Given the description of an element on the screen output the (x, y) to click on. 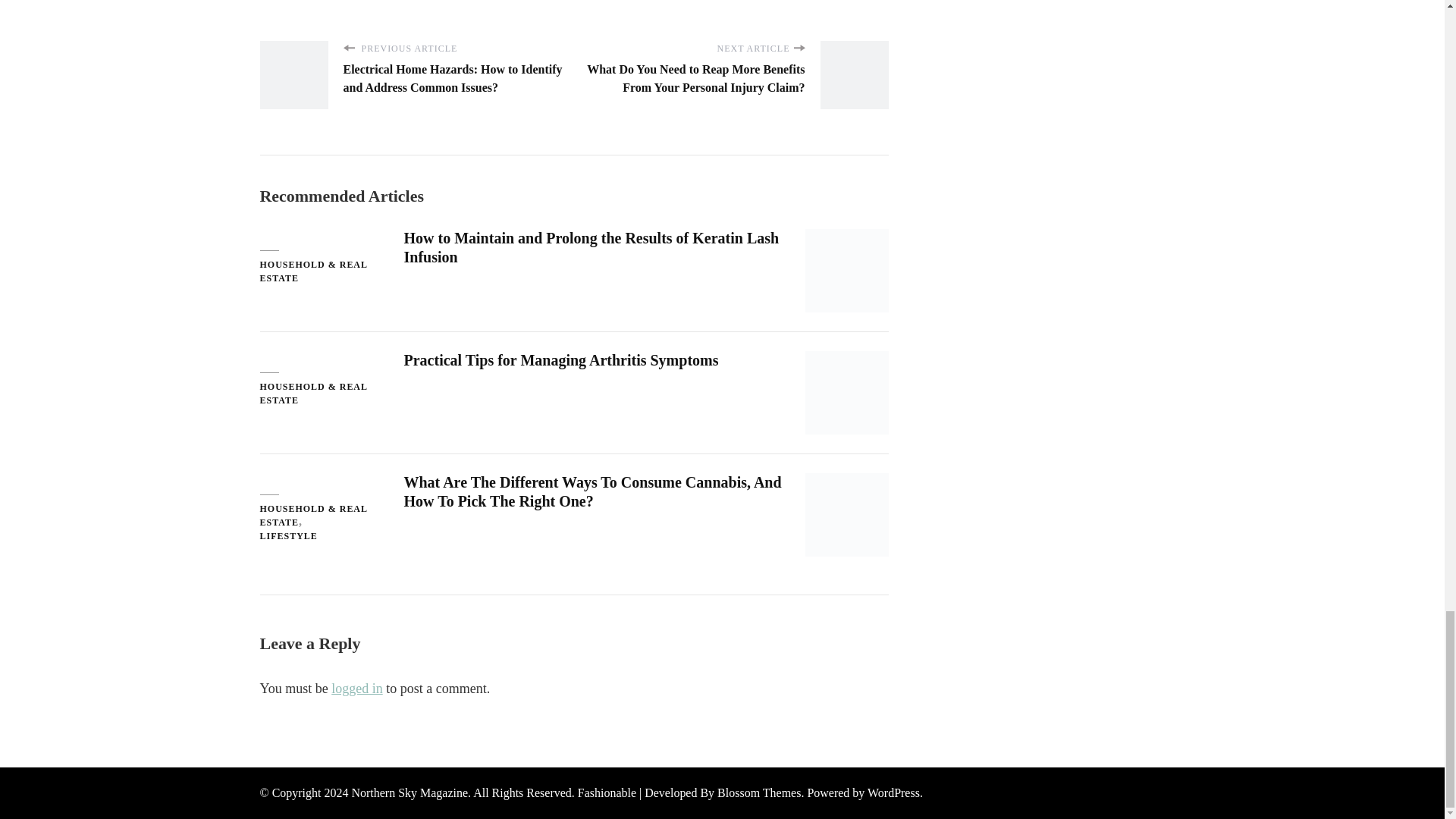
Practical Tips for Managing Arthritis Symptoms (560, 360)
LIFESTYLE (288, 536)
